Given the description of an element on the screen output the (x, y) to click on. 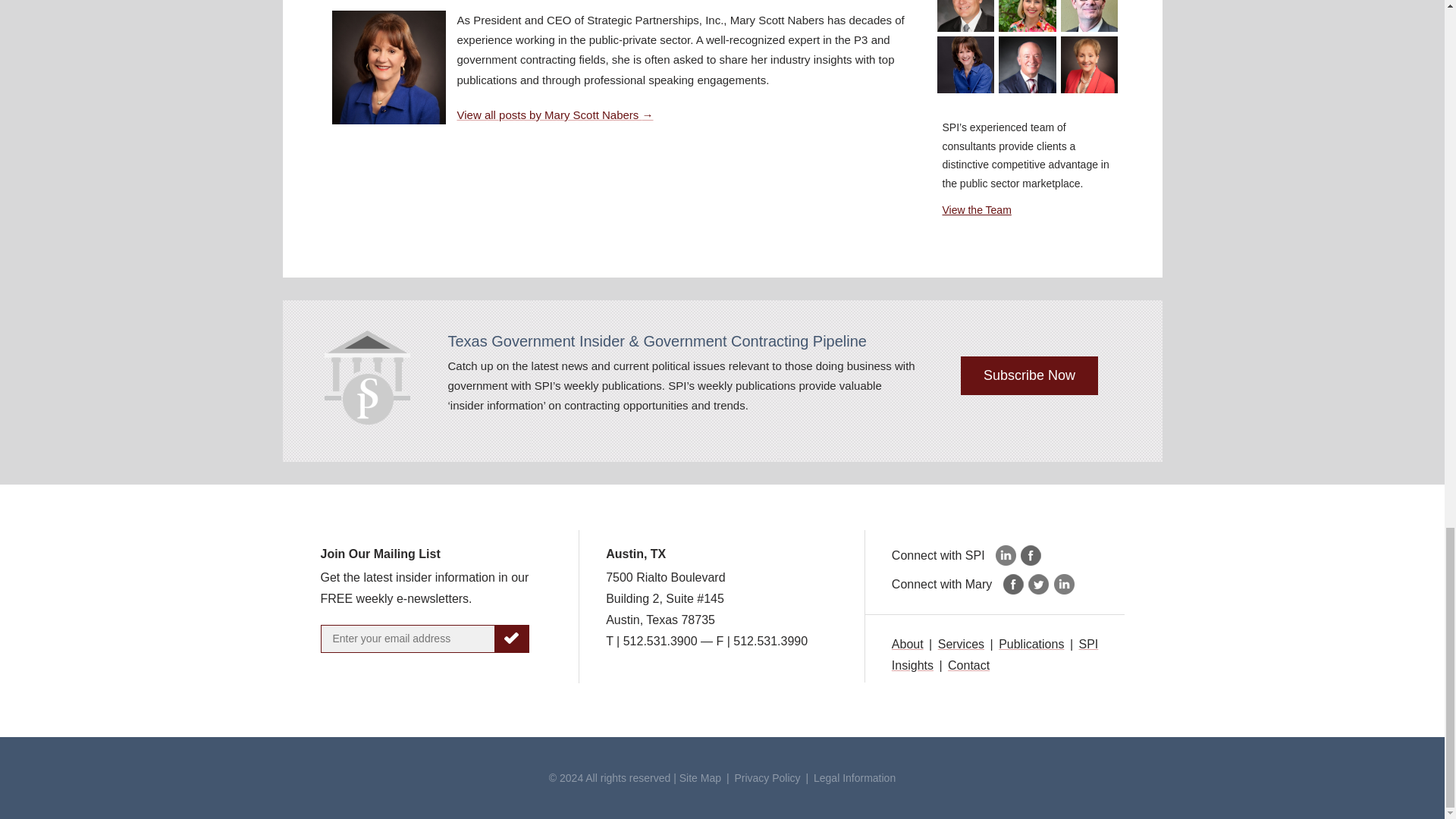
Coppola-pic-250x250 photo (965, 15)
headshot1-250x250 photo (1027, 15)
Kent-250x250 photo (1027, 65)
DuBus-250x250 photo (1089, 15)
MSN-HEADSHOT-250x250 photo (965, 65)
